Given the description of an element on the screen output the (x, y) to click on. 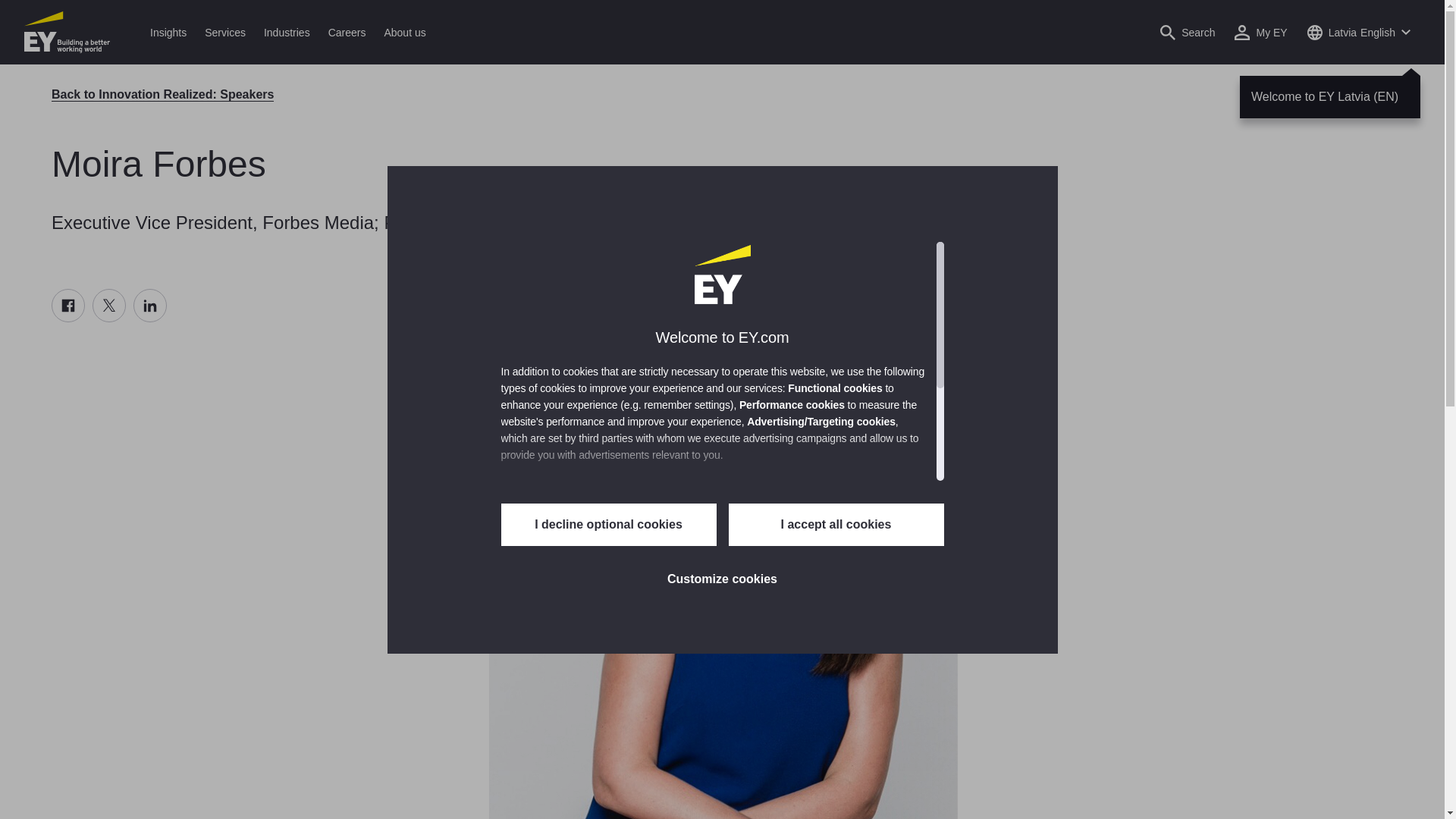
Open search (1187, 32)
Social Media Share (108, 305)
EY Homepage (67, 32)
Open country language switcher (1358, 32)
My EY (1260, 32)
Facebook (67, 305)
Twitter (109, 305)
Linkedin (150, 305)
